Given the description of an element on the screen output the (x, y) to click on. 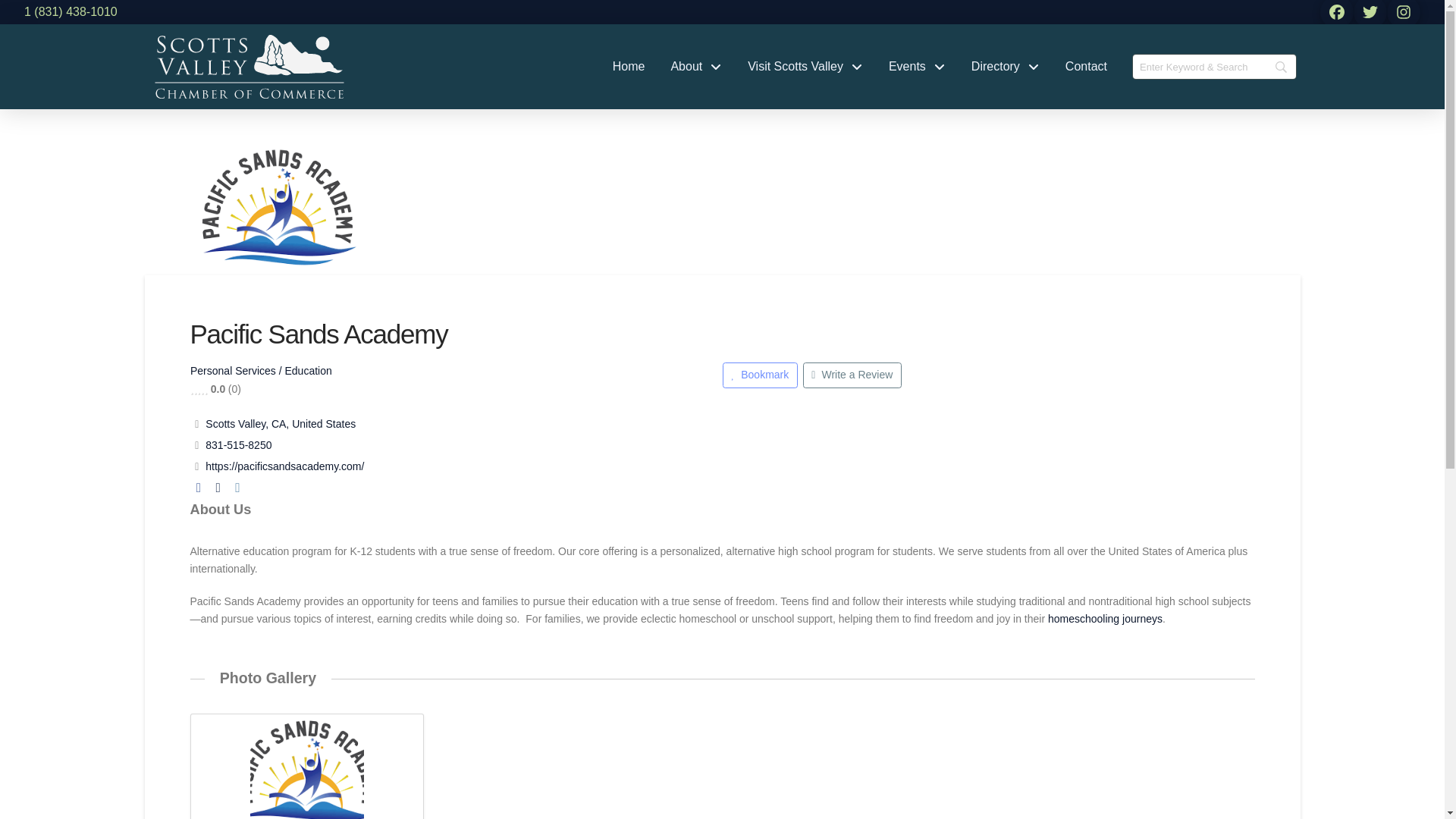
Events (917, 66)
Facebook (197, 487)
831-515-8250 (237, 444)
About (696, 66)
Visit Scotts Valley (805, 66)
Scotts Valley, CA, United States (280, 423)
Instagram (237, 487)
homeschooling journeys (1104, 618)
0.00 out of 5 stars (197, 389)
Write a Review (851, 375)
